Given the description of an element on the screen output the (x, y) to click on. 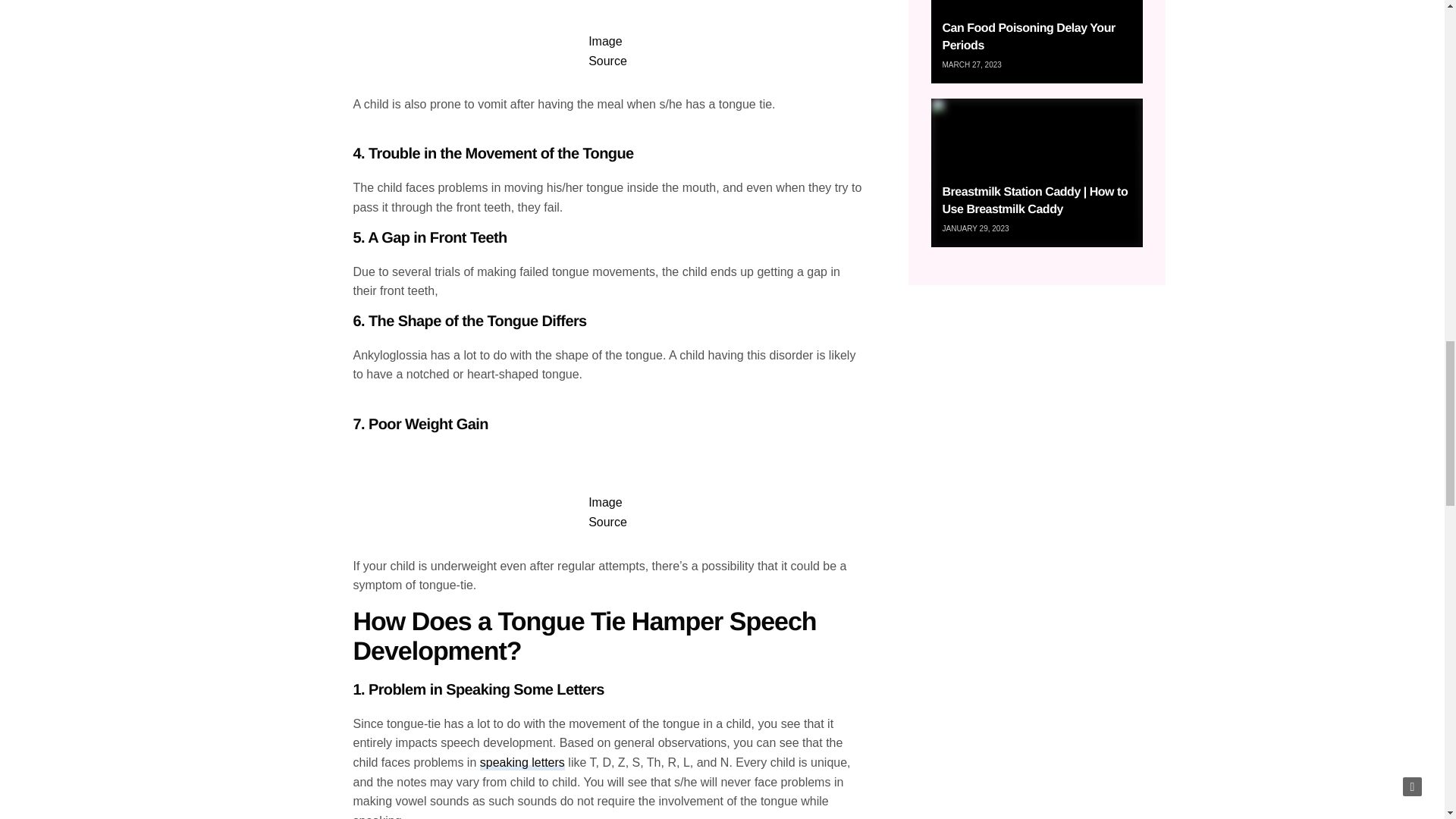
speaking letters (522, 762)
Image Source (607, 51)
Image Source (607, 512)
